Given the description of an element on the screen output the (x, y) to click on. 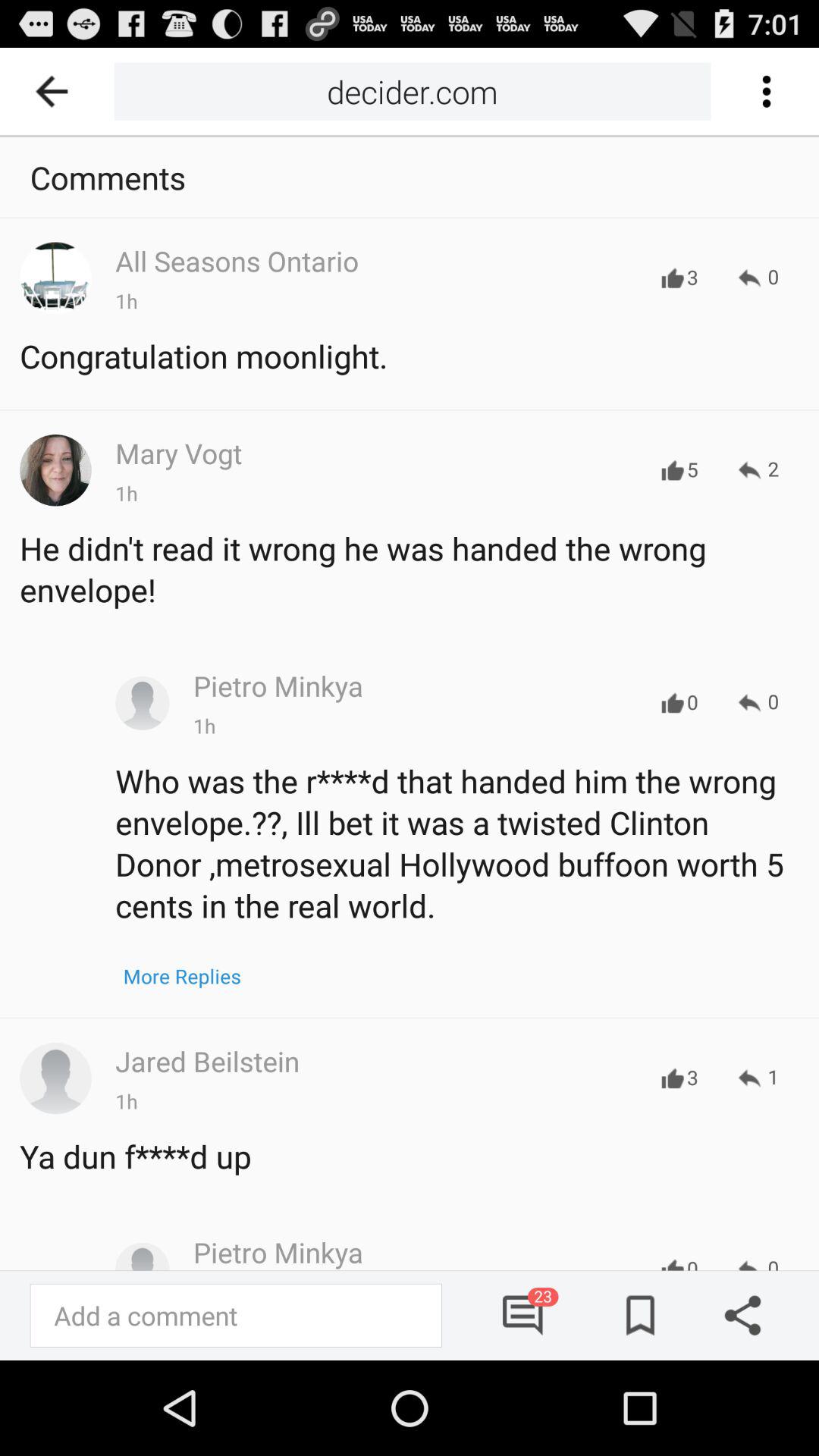
dp place (142, 703)
